Given the description of an element on the screen output the (x, y) to click on. 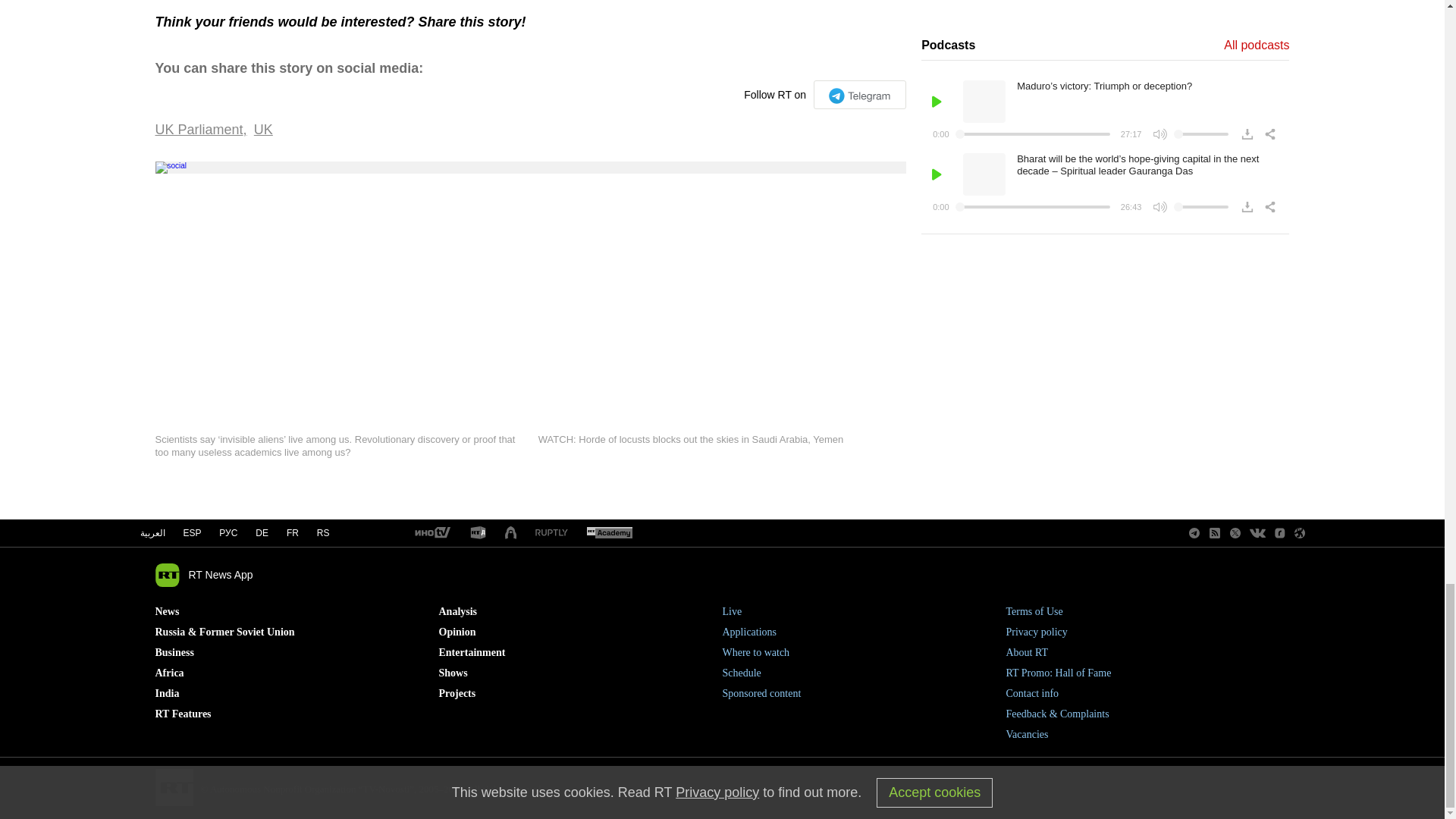
RT  (608, 533)
RT  (478, 533)
RT  (431, 533)
RT  (551, 533)
